Given the description of an element on the screen output the (x, y) to click on. 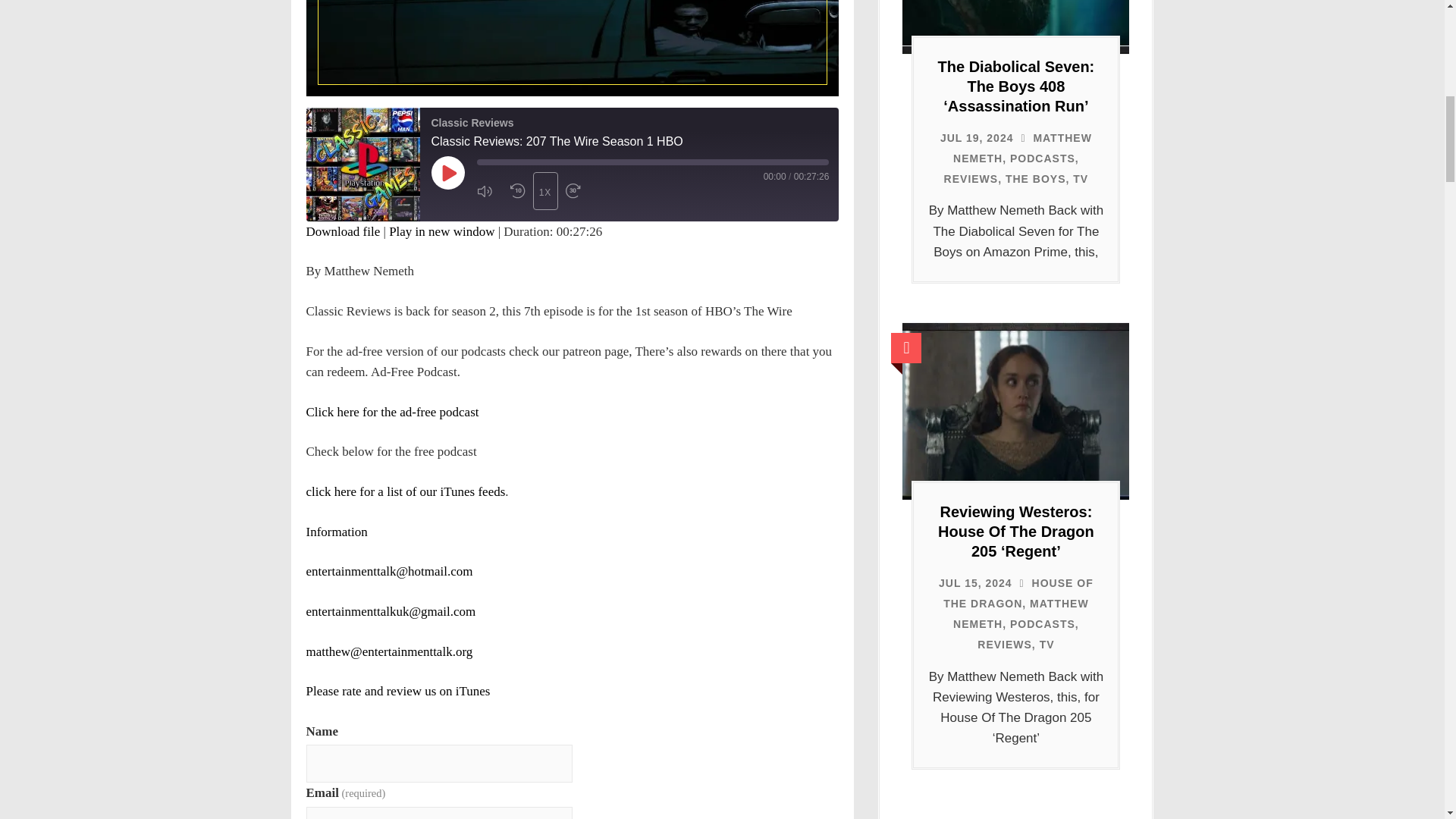
Play (447, 172)
Playback Speed (544, 190)
Fast Forward 30 seconds (578, 191)
Rewind 10 seconds (516, 191)
Classic Reviews (362, 164)
Share (573, 232)
PLAY EPISODE (447, 172)
Seek (652, 161)
Subscribe (507, 232)
